Given the description of an element on the screen output the (x, y) to click on. 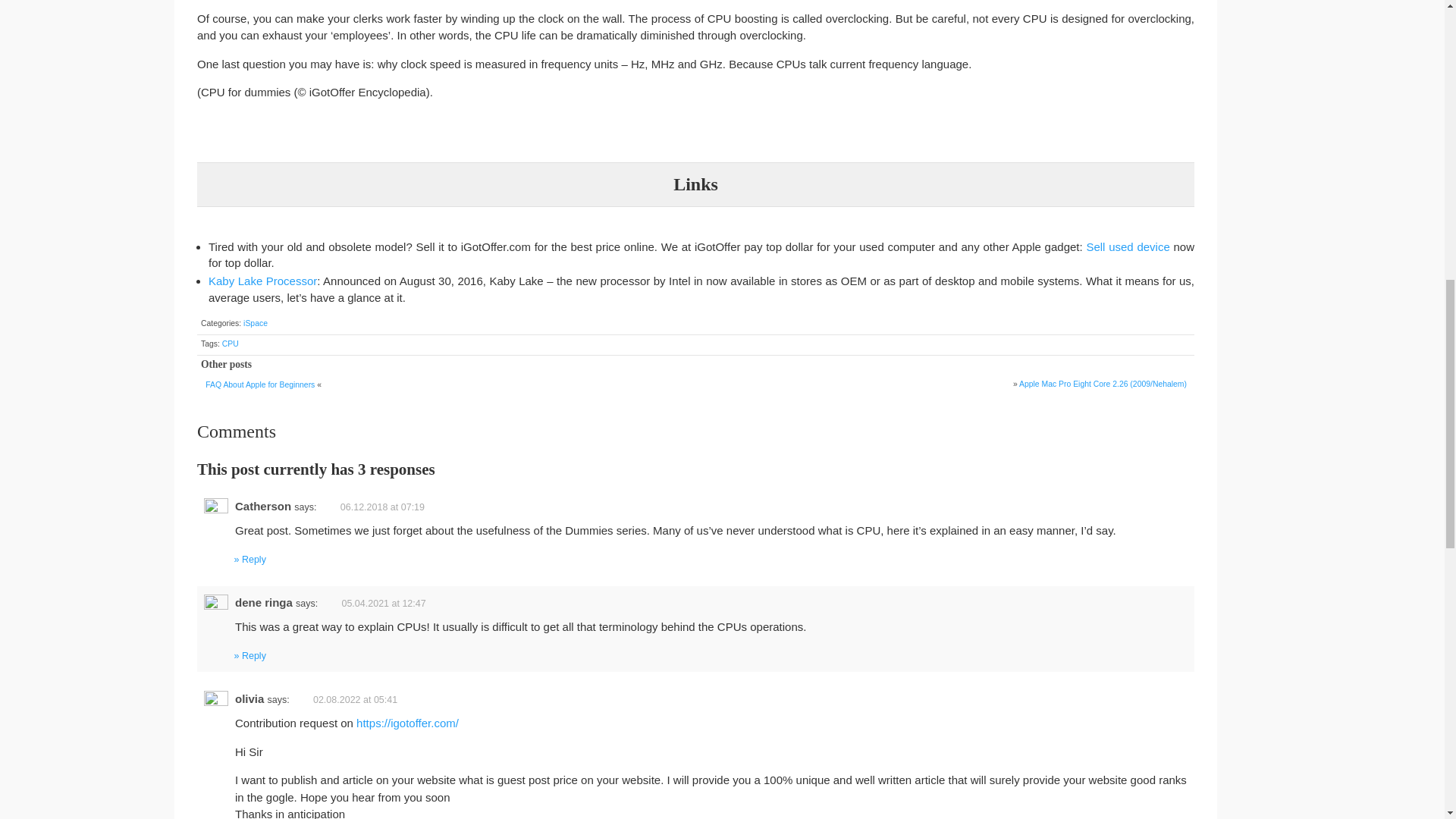
FAQ About Apple for Beginners (259, 384)
Kaby Lake Processor (262, 280)
06.12.2018 at 07:19 (394, 505)
iSpace (255, 323)
CPU (230, 343)
Sell used device (1127, 246)
